Given the description of an element on the screen output the (x, y) to click on. 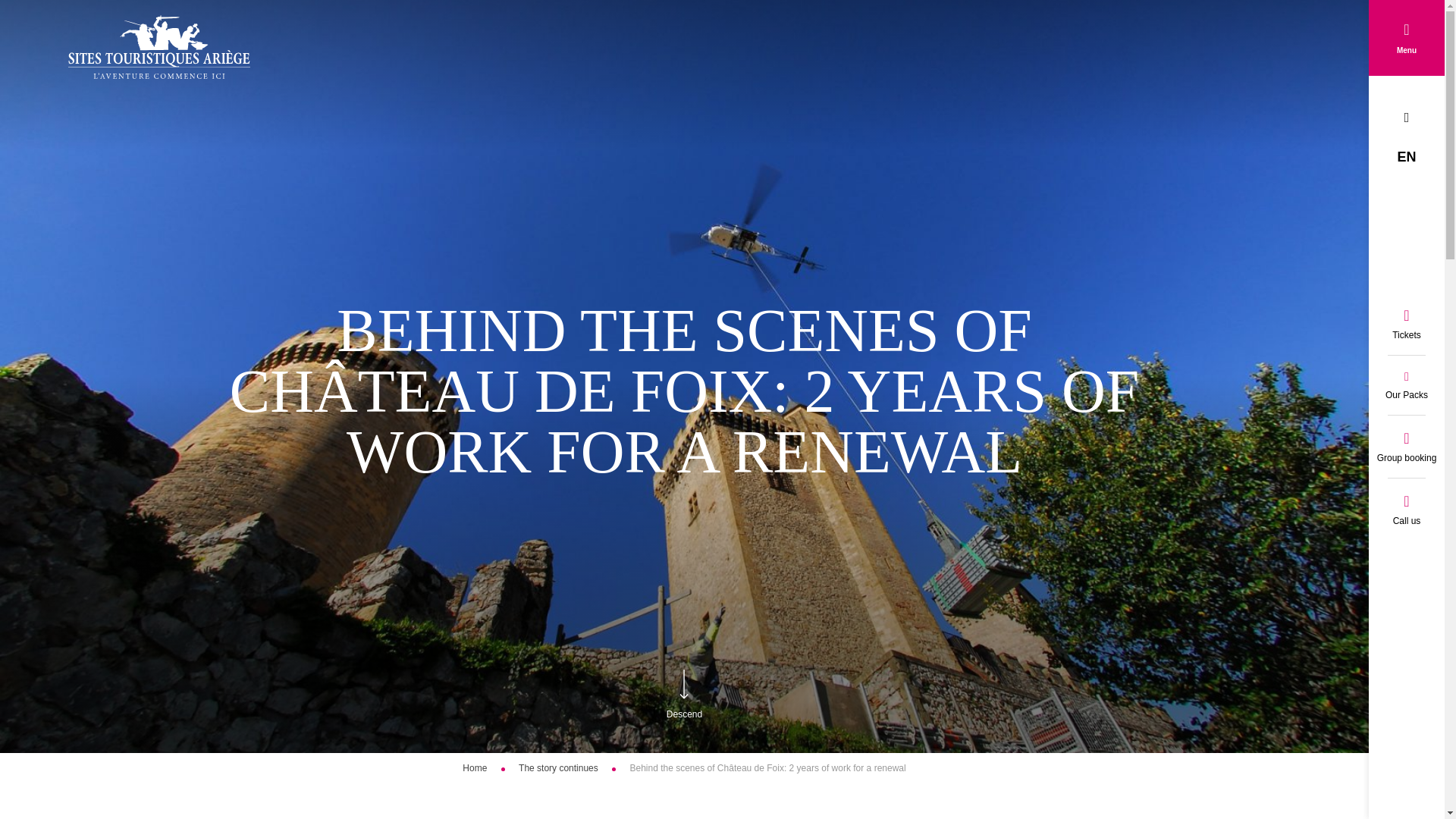
The story continues (558, 767)
Descend (683, 714)
EN (1405, 155)
Home (474, 767)
